Given the description of an element on the screen output the (x, y) to click on. 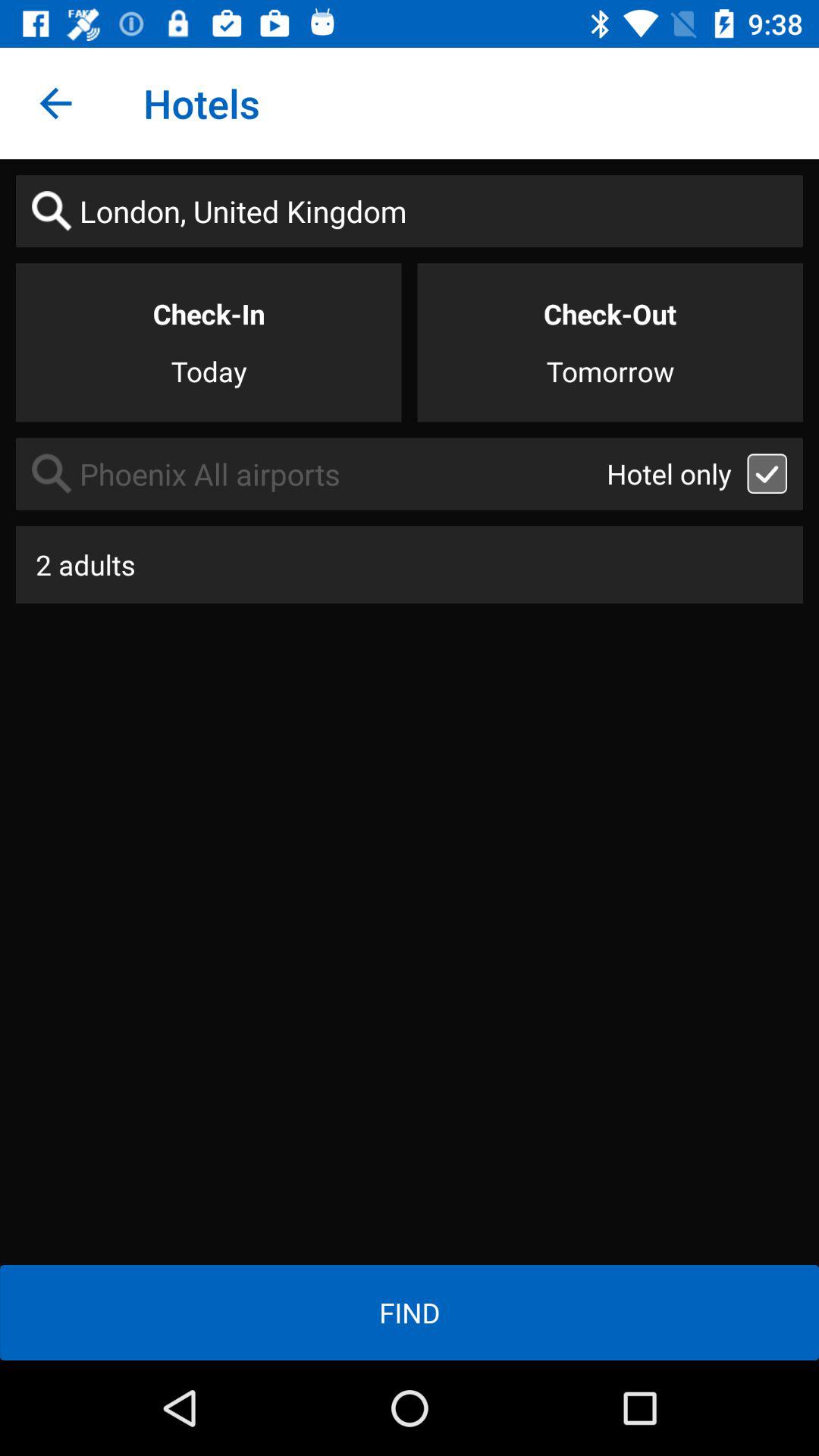
tap the icon next to the hotels item (55, 103)
